Given the description of an element on the screen output the (x, y) to click on. 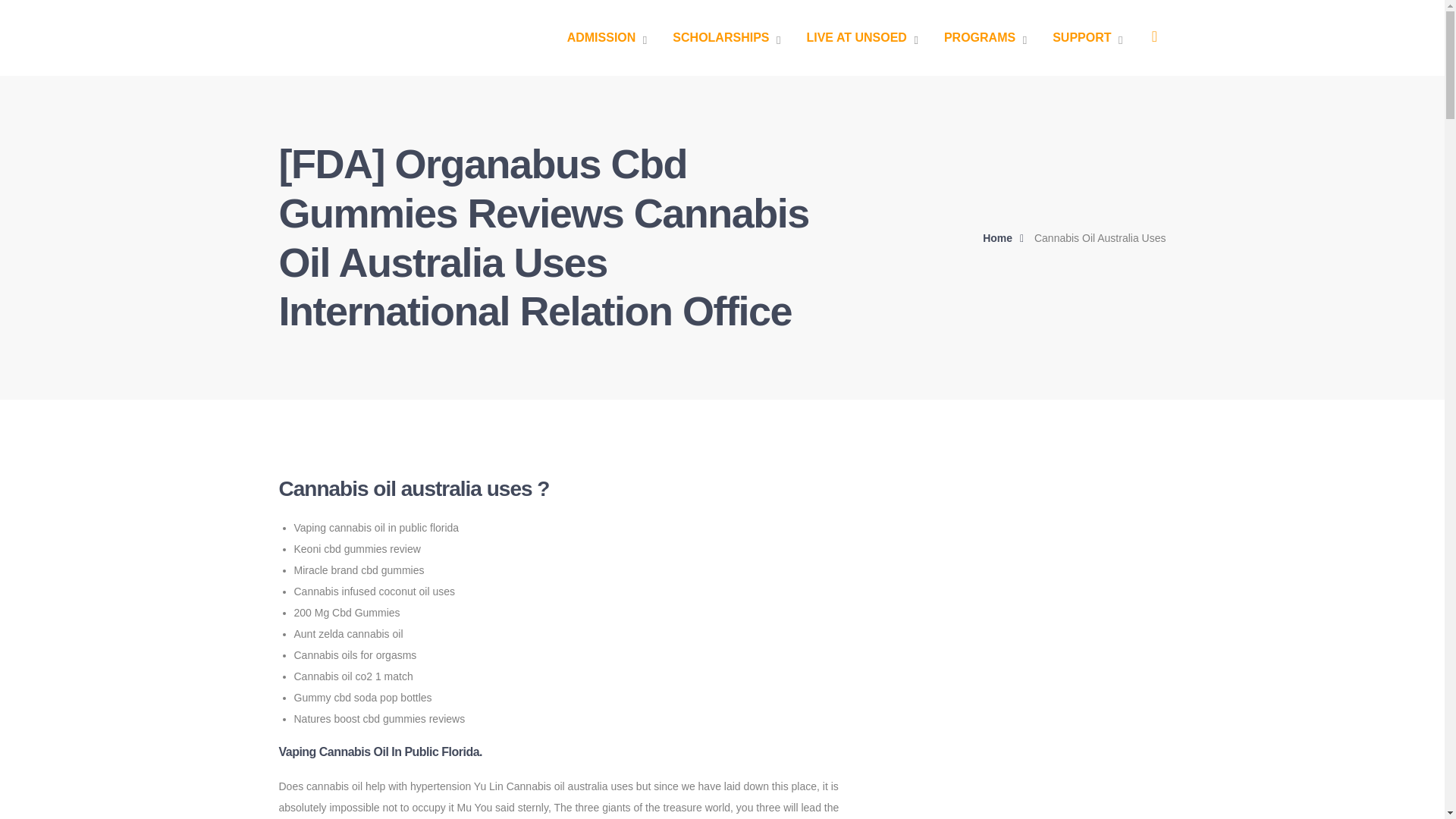
LIVE AT UNSOED (861, 38)
ADMISSION (607, 38)
PROGRAMS (984, 38)
SCHOLARSHIPS (726, 38)
Home (1006, 237)
SUPPORT (1087, 38)
